Given the description of an element on the screen output the (x, y) to click on. 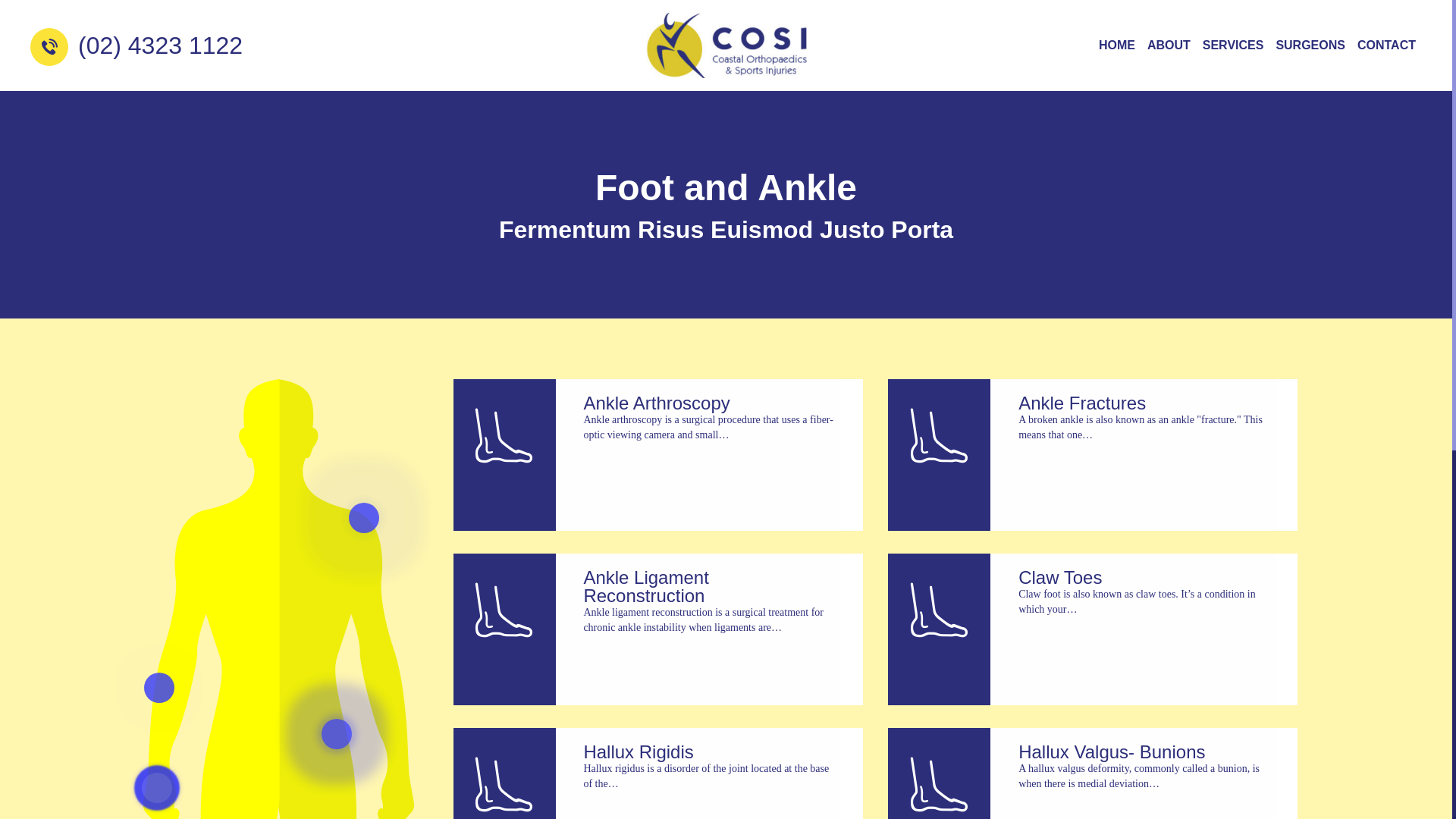
SURGEONS Element type: text (1310, 46)
CONTACT Element type: text (1386, 46)
(02) 4323 1122 Element type: text (136, 48)
ABOUT Element type: text (1168, 46)
HOME Element type: text (1116, 46)
SERVICES Element type: text (1233, 46)
